Given the description of an element on the screen output the (x, y) to click on. 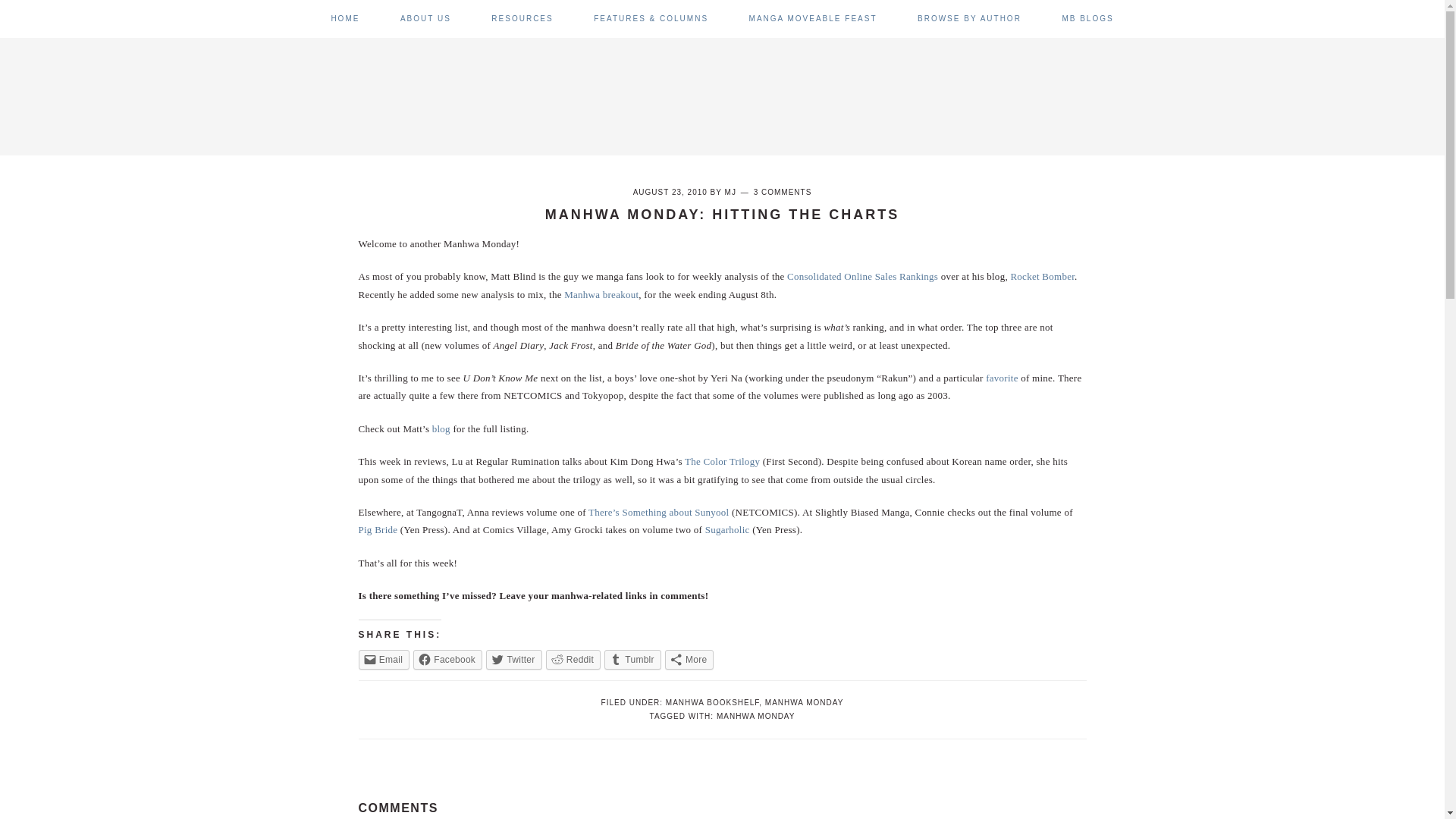
Posts by MJ (730, 192)
HOME (344, 18)
Click to email this to a friend (383, 659)
Click to share on Reddit (573, 659)
Click to share on Facebook (447, 659)
Click to share on Twitter (513, 659)
MANGA MOVEABLE FEAST (813, 18)
Click to share on Tumblr (632, 659)
ABOUT US (425, 18)
RESOURCES (521, 18)
